Given the description of an element on the screen output the (x, y) to click on. 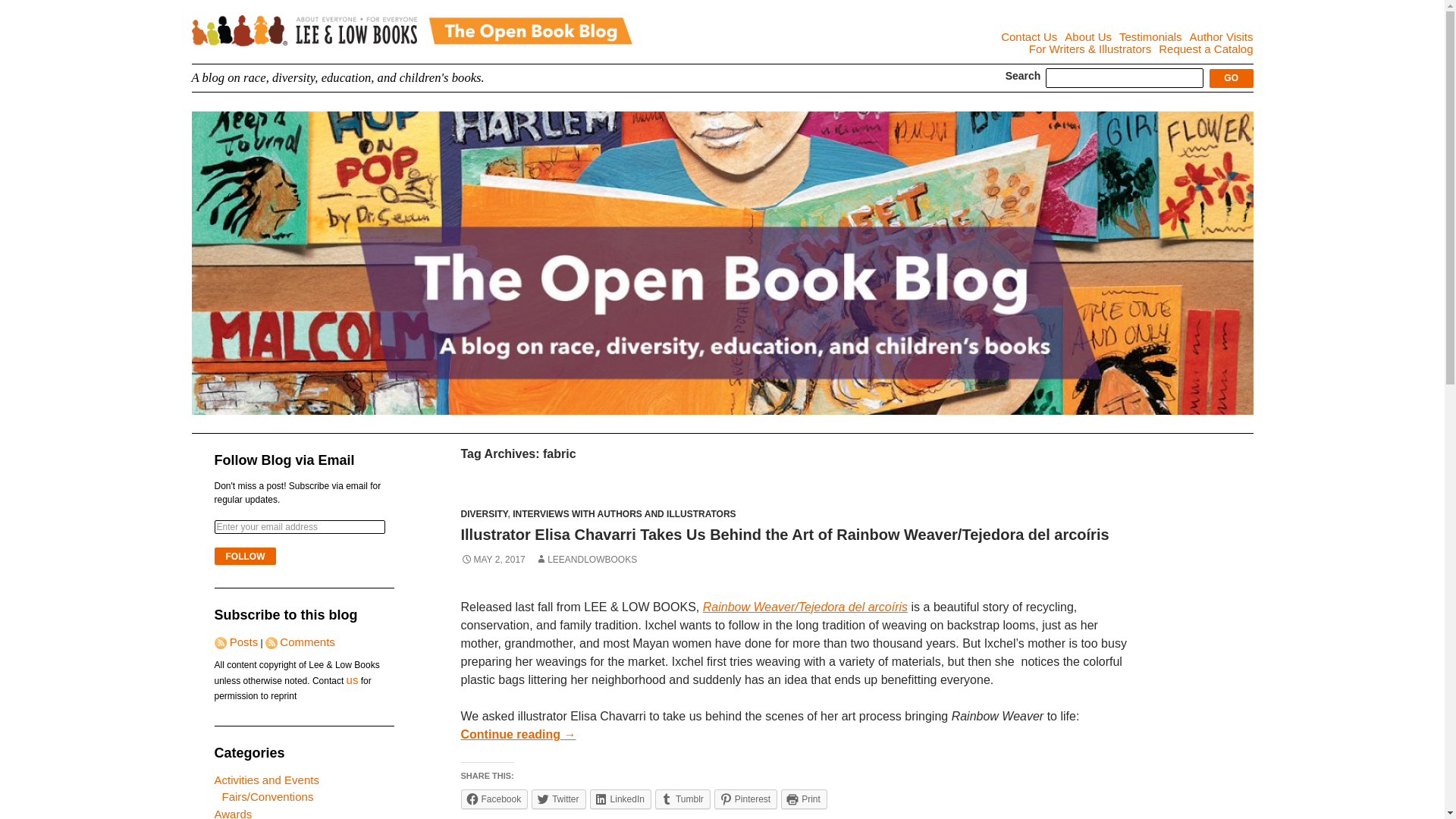
Pinterest (745, 799)
Print (803, 799)
About Us (1088, 36)
DIVERSITY (484, 513)
Facebook (494, 799)
Contact Us (1029, 36)
Click to share on Pinterest (745, 799)
Twitter (558, 799)
INTERVIEWS WITH AUTHORS AND ILLUSTRATORS (623, 513)
Follow (245, 556)
Click to print (803, 799)
Click to share on Facebook (494, 799)
Click to share on Tumblr (682, 799)
Request a Catalog (1205, 48)
Testimonials (1150, 36)
